Given the description of an element on the screen output the (x, y) to click on. 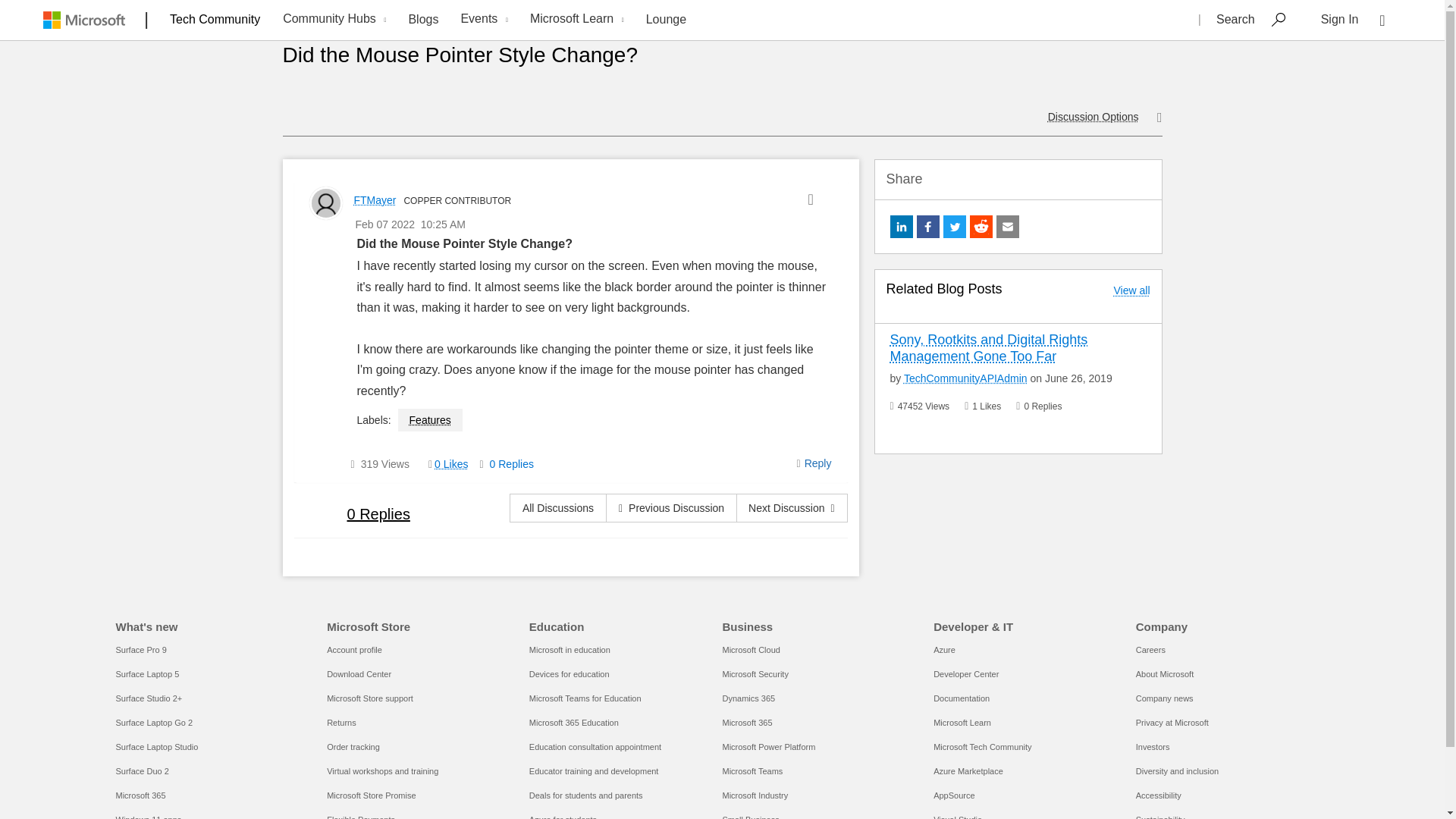
Tech Community (215, 18)
Community Hubs (332, 19)
